Given the description of an element on the screen output the (x, y) to click on. 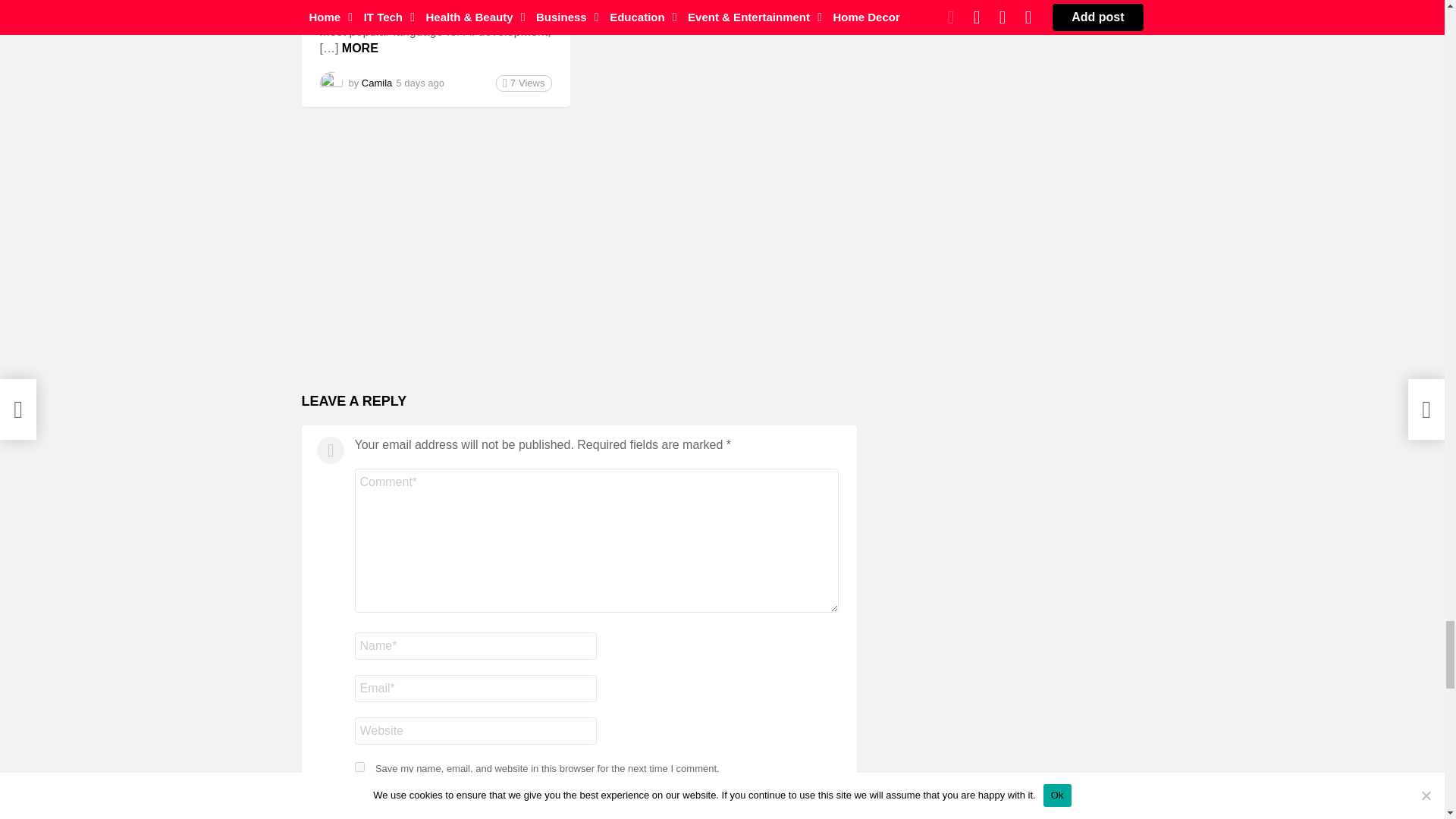
yes (360, 767)
Post Comment (414, 805)
